Given the description of an element on the screen output the (x, y) to click on. 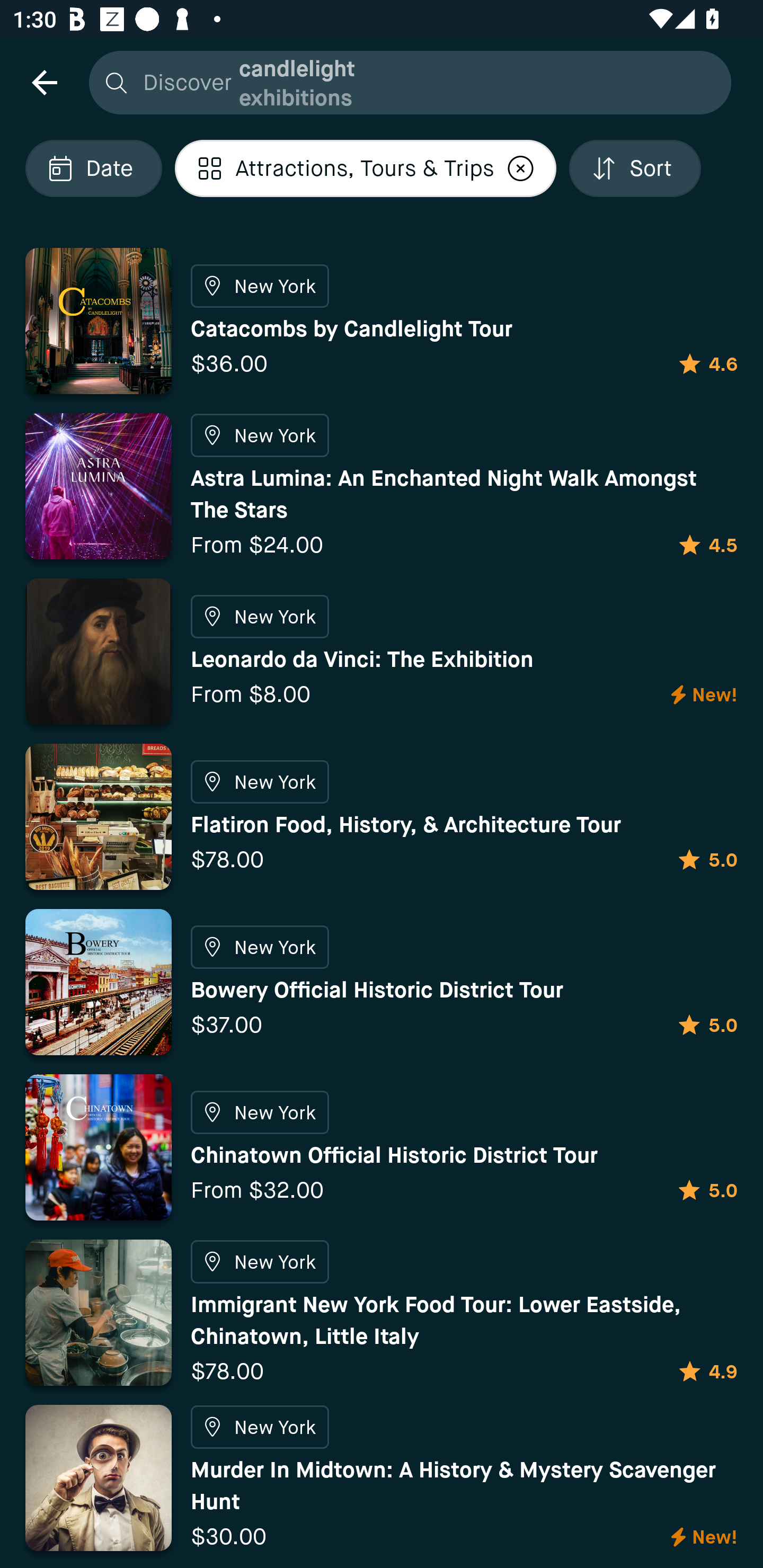
navigation icon (44, 81)
Discover candlelight (405, 81)
Localized description Date (93, 168)
Localized description (520, 168)
Localized description Sort (635, 168)
